Given the description of an element on the screen output the (x, y) to click on. 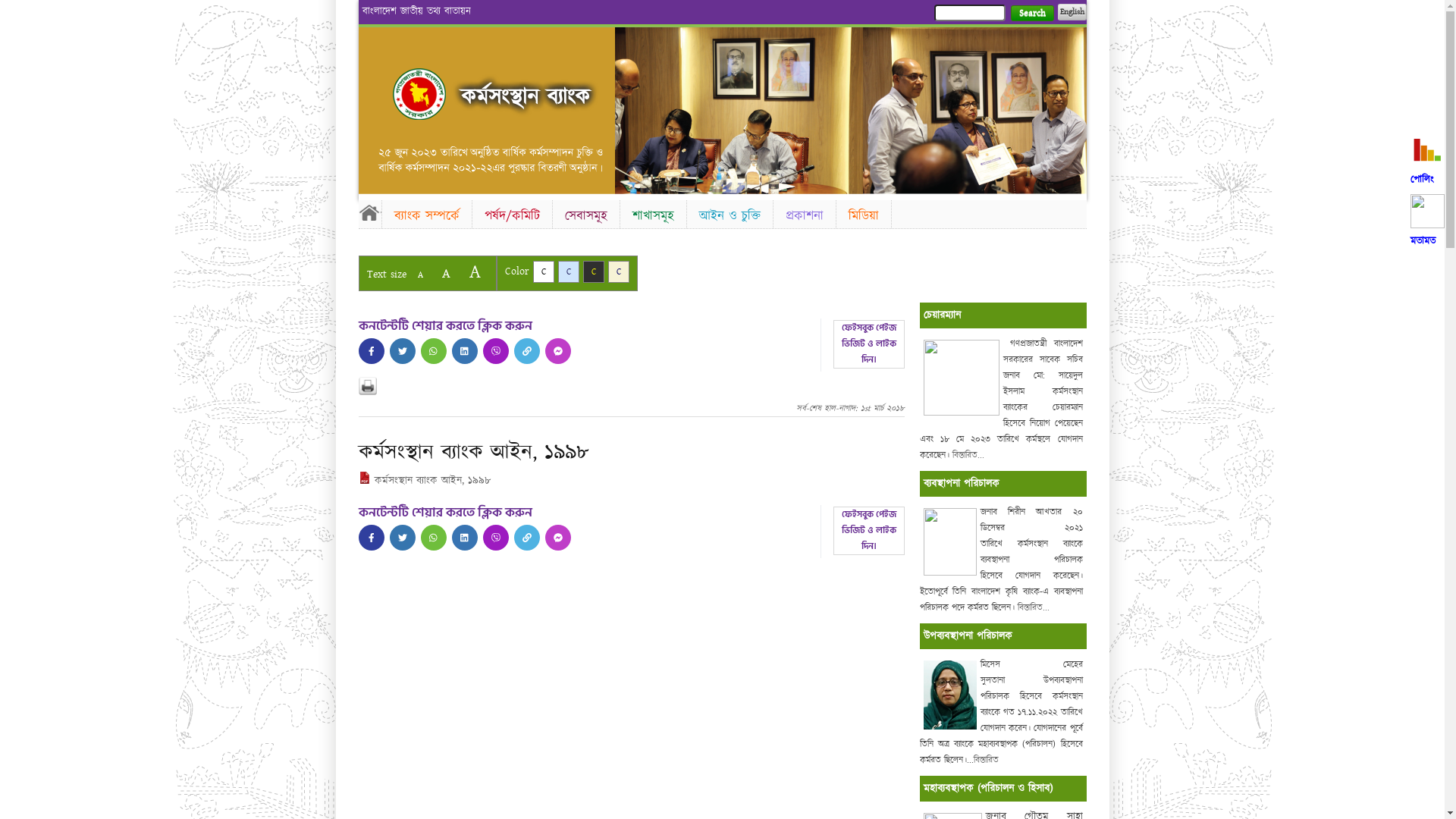
C Element type: text (568, 271)
English Element type: text (1071, 11)
A Element type: text (445, 273)
Home Element type: hover (418, 93)
A Element type: text (419, 274)
C Element type: text (592, 271)
Home Element type: hover (368, 211)
C Element type: text (618, 271)
A Element type: text (474, 271)
Search Element type: text (1031, 13)
C Element type: text (542, 271)
